Given the description of an element on the screen output the (x, y) to click on. 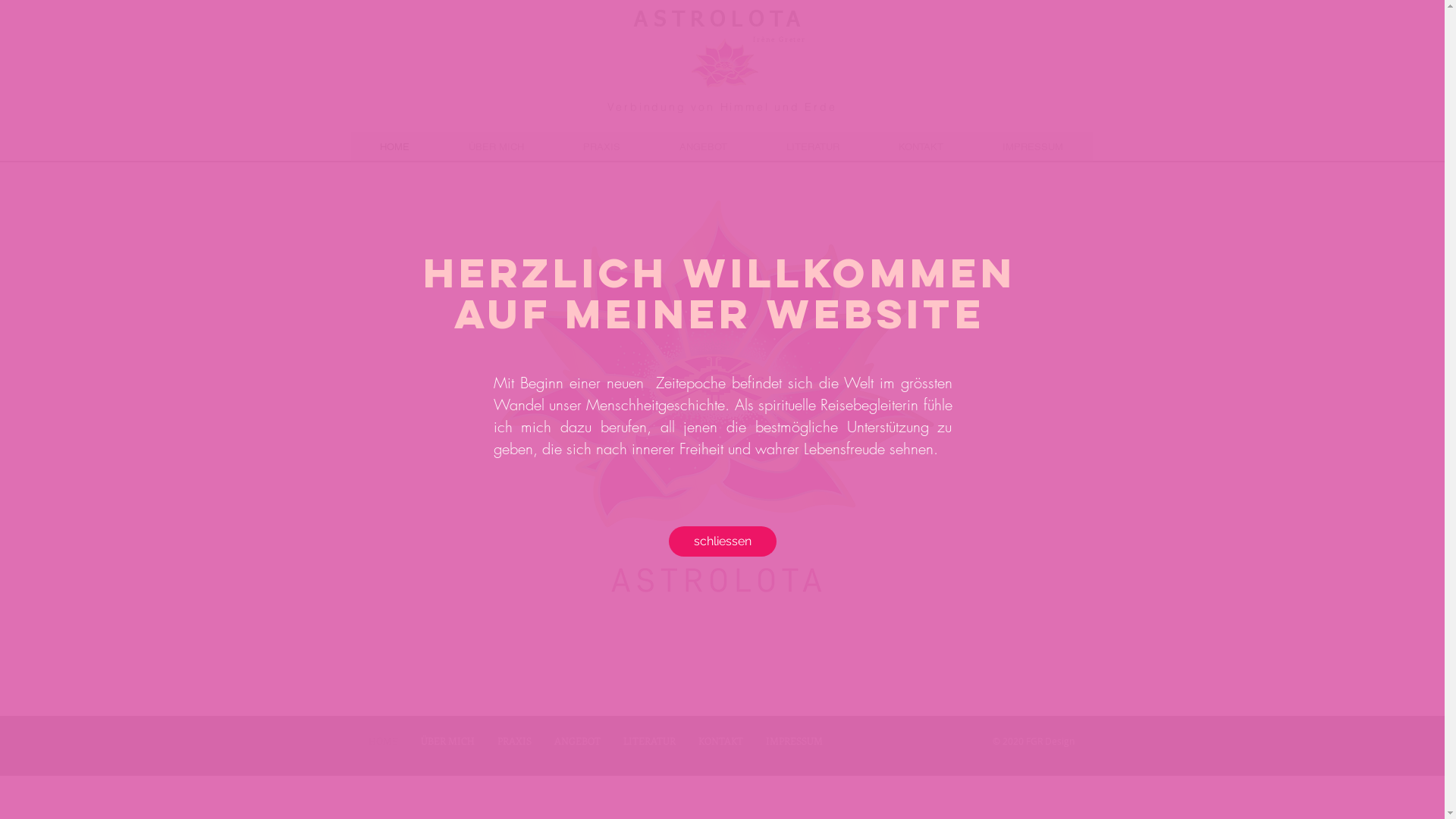
HOME Element type: text (394, 146)
LITERATUR Element type: text (648, 740)
KONTAKT Element type: text (920, 146)
IMPRESSUM Element type: text (1032, 146)
PRAXIS Element type: text (601, 146)
PRAXIS Element type: text (513, 740)
ne Greter Element type: text (785, 38)
KONTAKT Element type: text (720, 740)
LITERATUR Element type: text (812, 146)
Verbindung von Himmel und Erde Element type: text (721, 106)
IMPRESSUM Element type: text (793, 740)
HOME Element type: text (382, 740)
